Given the description of an element on the screen output the (x, y) to click on. 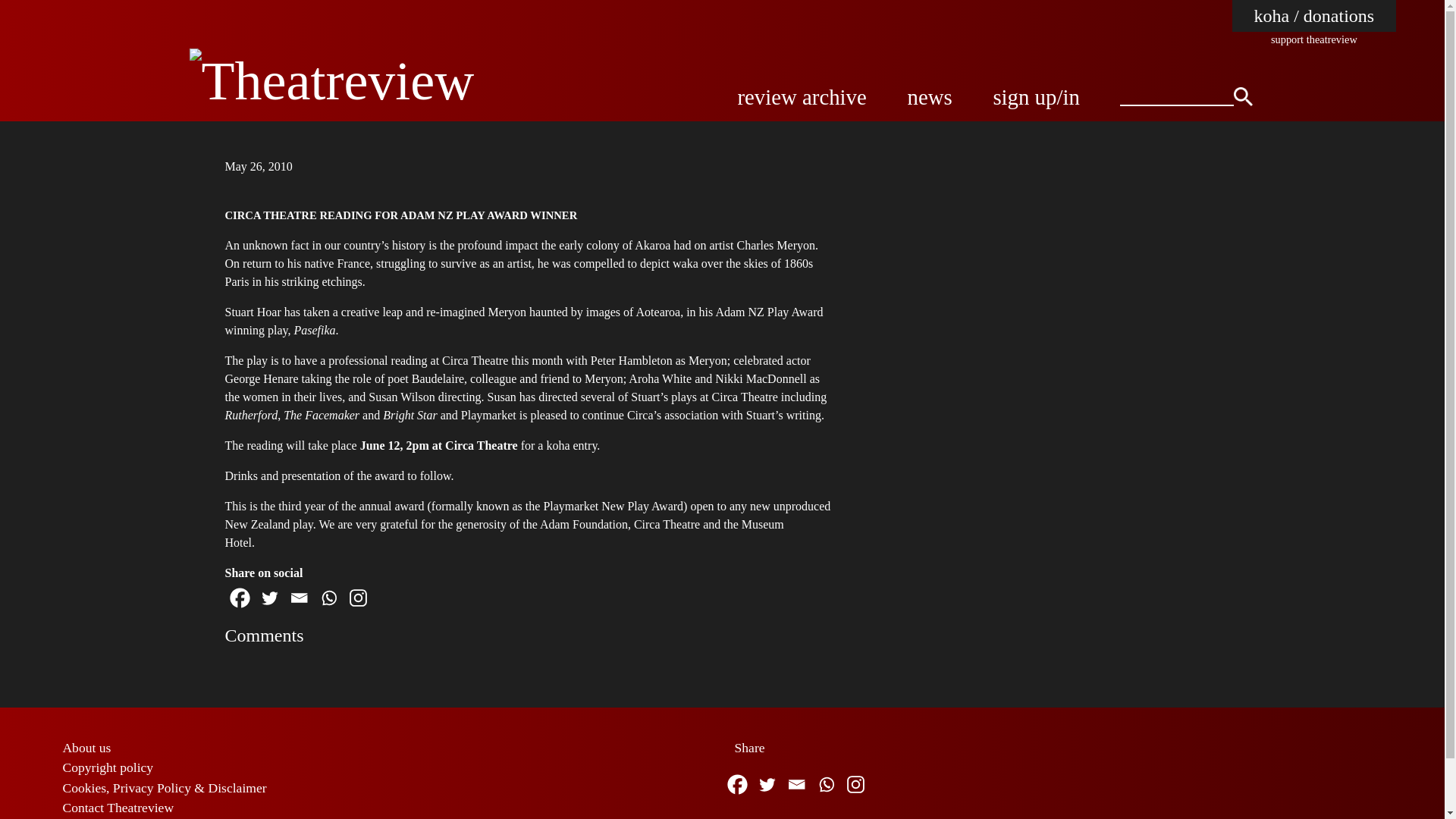
Email (796, 784)
Twitter (269, 597)
Facebook (238, 597)
Copyright policy (107, 767)
Instagram (854, 784)
news (929, 96)
About us (86, 747)
review archive (801, 96)
Email (298, 597)
Contact Theatreview (117, 807)
Twitter (767, 784)
Whatsapp (826, 784)
Facebook (736, 784)
Whatsapp (328, 597)
Instagram (357, 597)
